Given the description of an element on the screen output the (x, y) to click on. 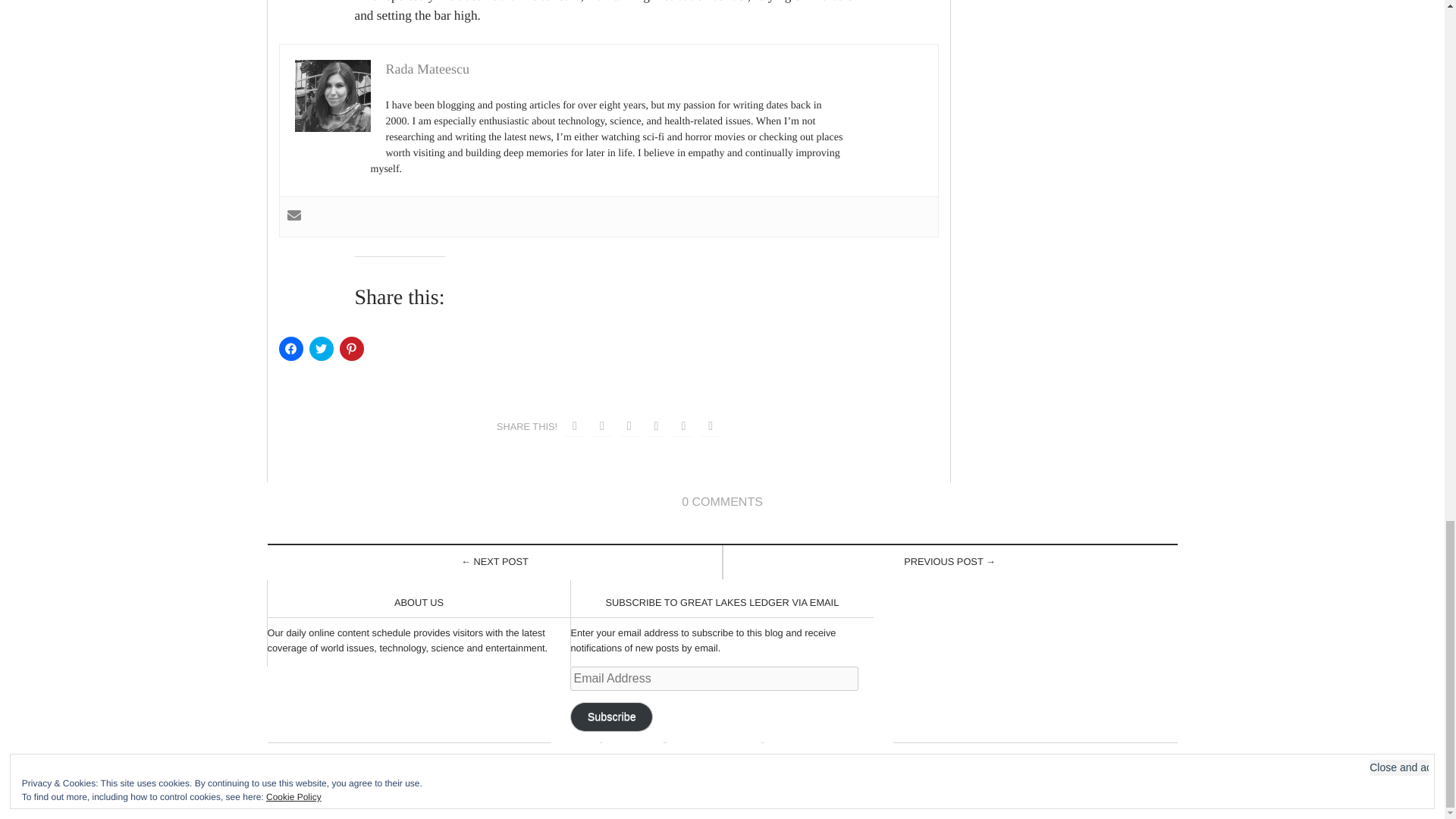
Click to share on Facebook (290, 348)
Rada Mateescu (426, 68)
Click to share on Pinterest (351, 348)
Share on LinkedIn (656, 426)
Click to share on Twitter (320, 348)
Tweet this! (601, 426)
Share on LinkedIn (682, 426)
Share on Facebook. (574, 426)
